Given the description of an element on the screen output the (x, y) to click on. 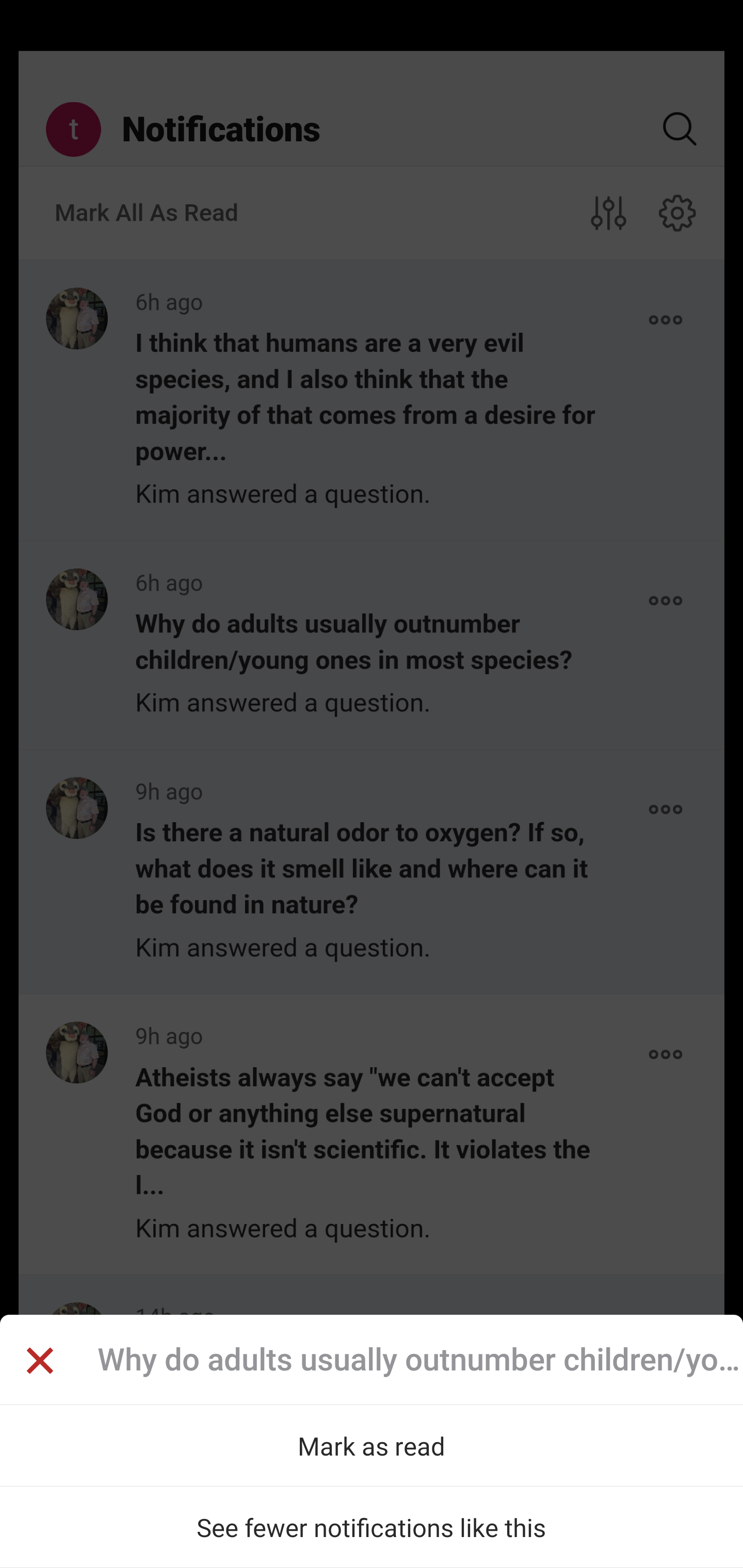
 (39, 1362)
Mark as read (371, 1445)
See fewer notifications like this (371, 1527)
